Given the description of an element on the screen output the (x, y) to click on. 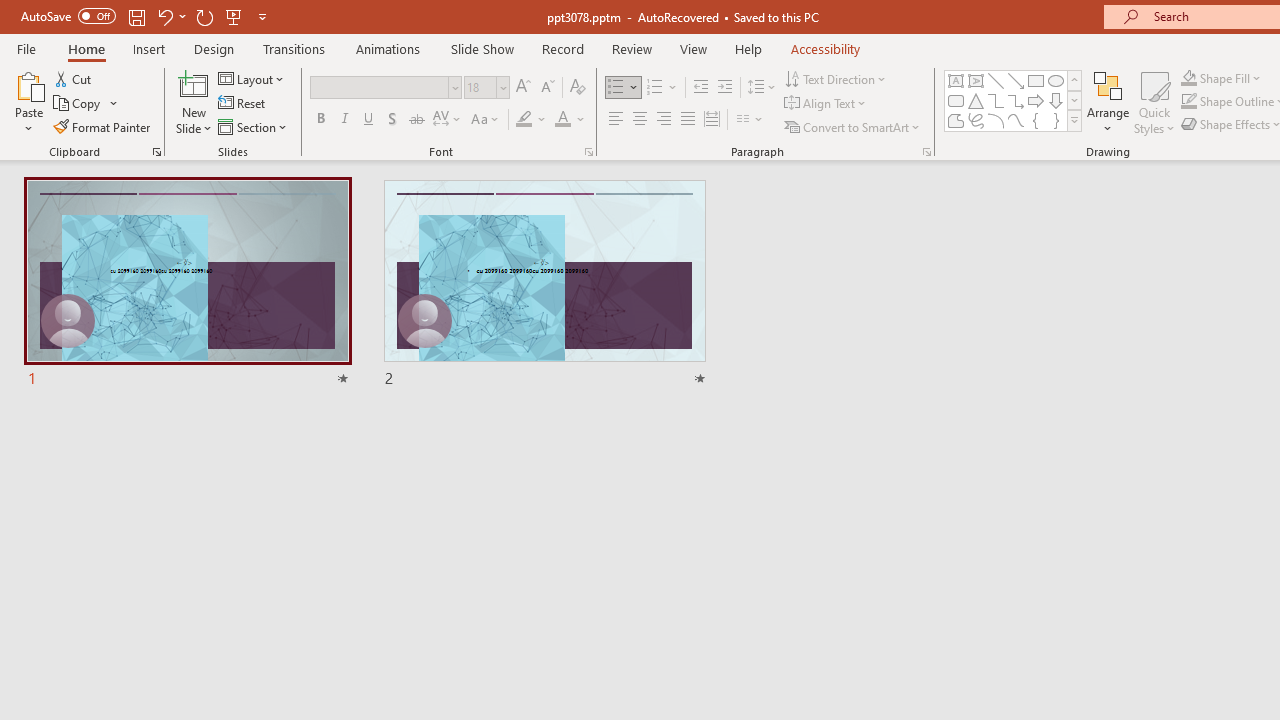
Connector: Elbow Arrow (1016, 100)
Line Spacing (762, 87)
Convert to SmartArt (853, 126)
Font Color Red (562, 119)
Clear Formatting (577, 87)
Section (254, 126)
Freeform: Scribble (975, 120)
